Given the description of an element on the screen output the (x, y) to click on. 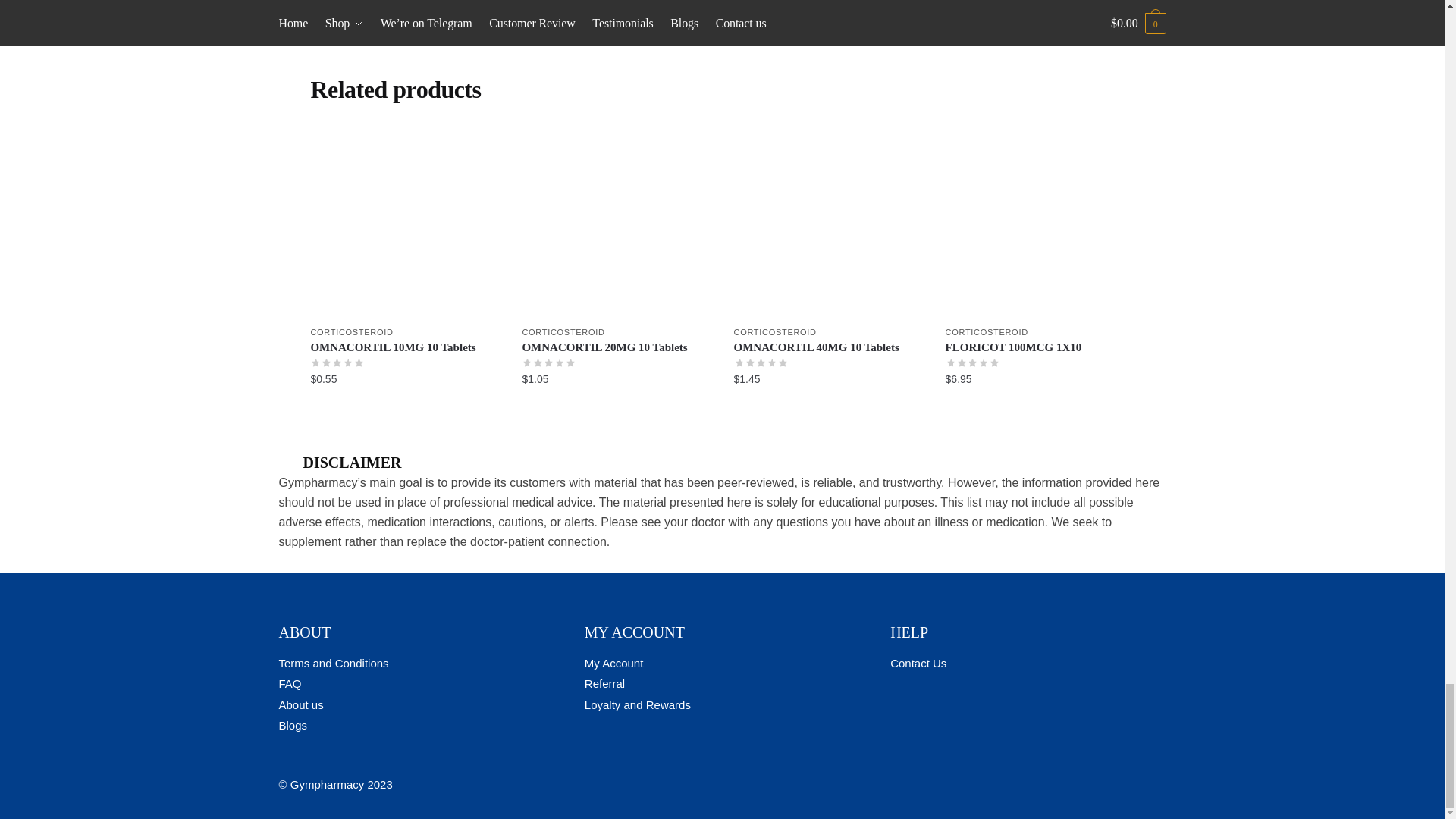
Terms and Conditions (333, 662)
My account (614, 662)
About (301, 704)
Referral (604, 683)
FAQ (290, 683)
Loyalty and Rewards (637, 704)
